Given the description of an element on the screen output the (x, y) to click on. 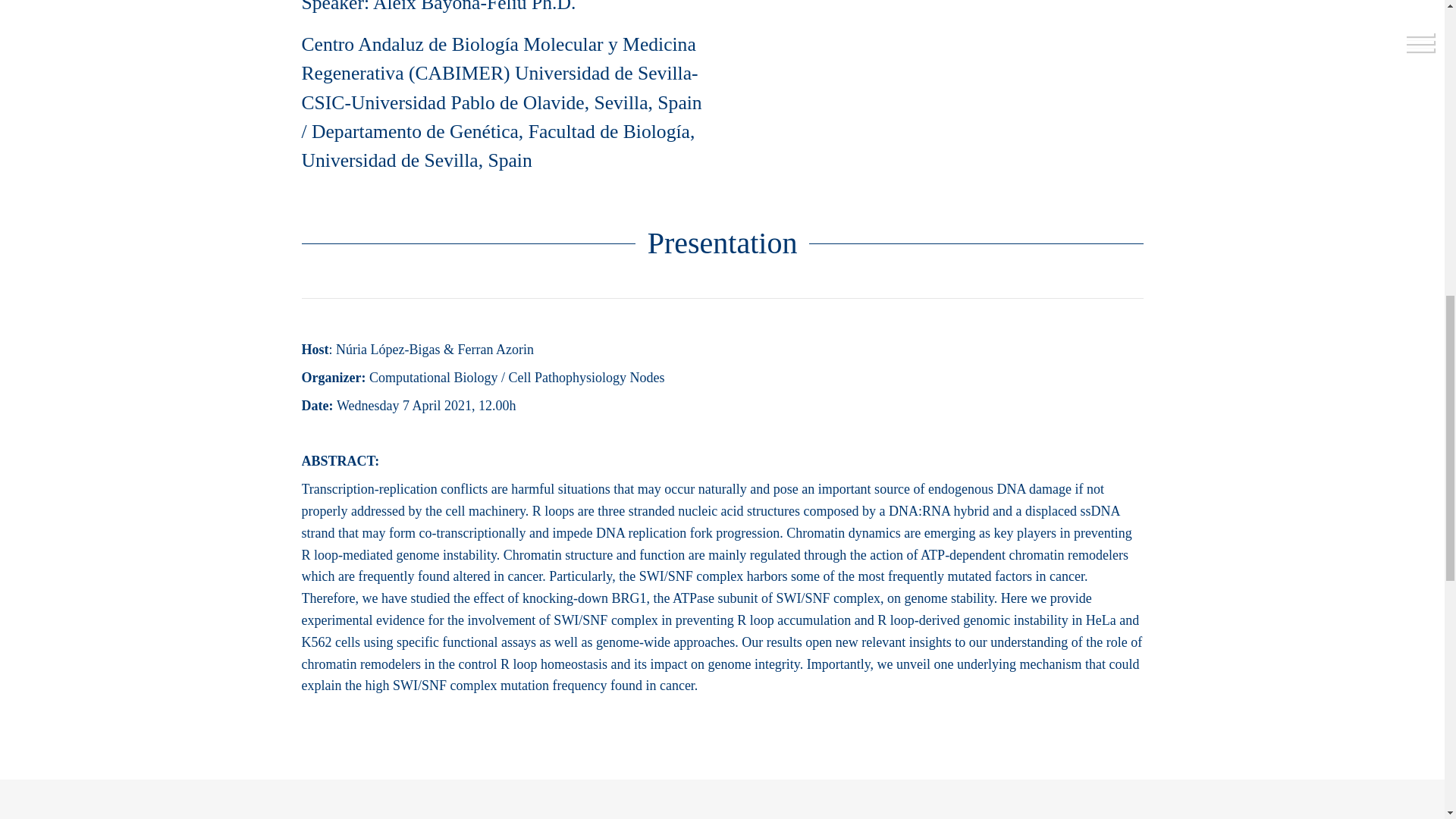
event11.jpg (937, 72)
